Given the description of an element on the screen output the (x, y) to click on. 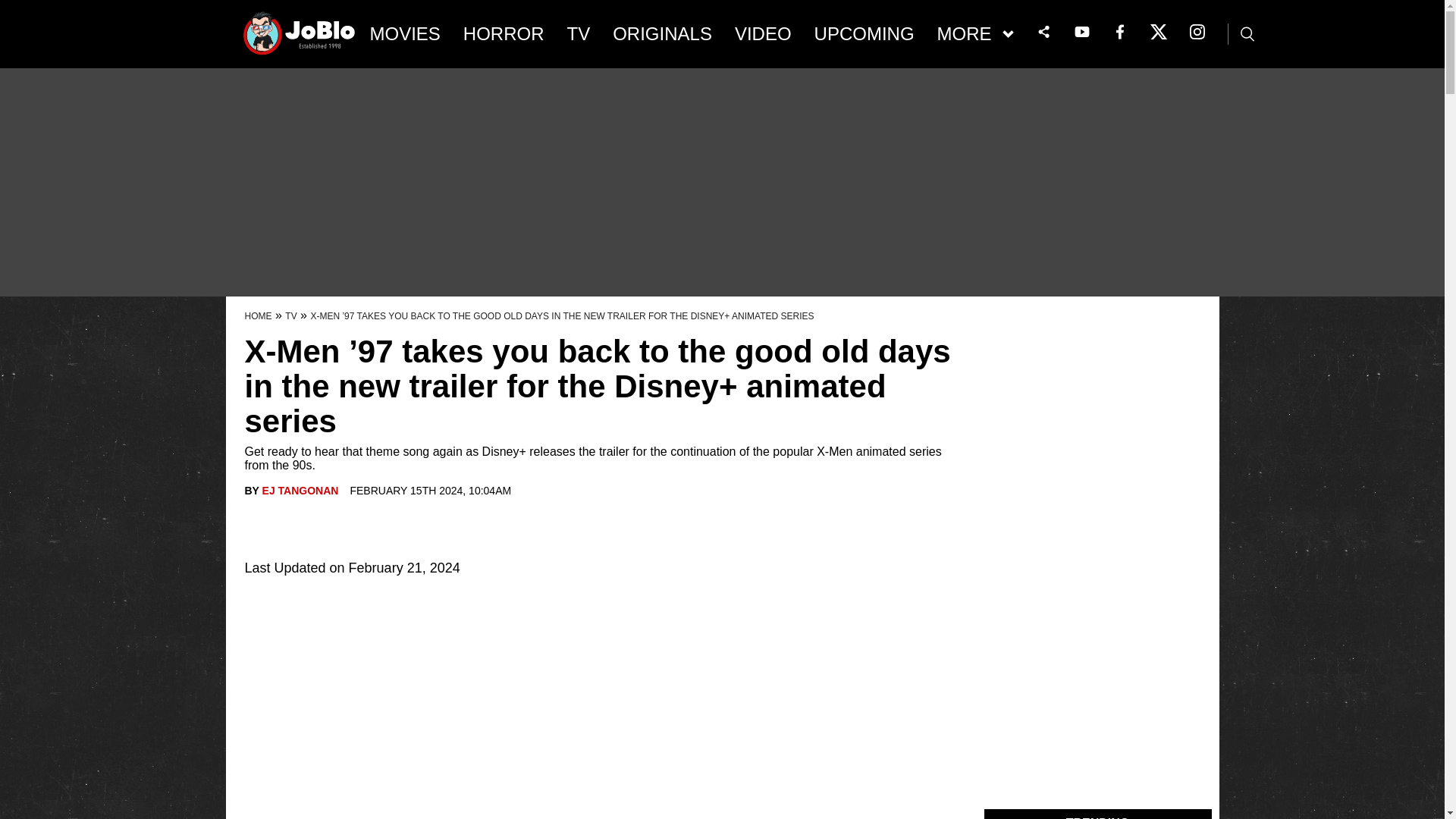
MOVIES (405, 34)
TV (578, 34)
JoBlo Logo (299, 38)
UPCOMING (863, 34)
ORIGINALS (662, 34)
VIDEO (762, 34)
MORE (976, 34)
Go (13, 7)
HORROR (503, 34)
